Given the description of an element on the screen output the (x, y) to click on. 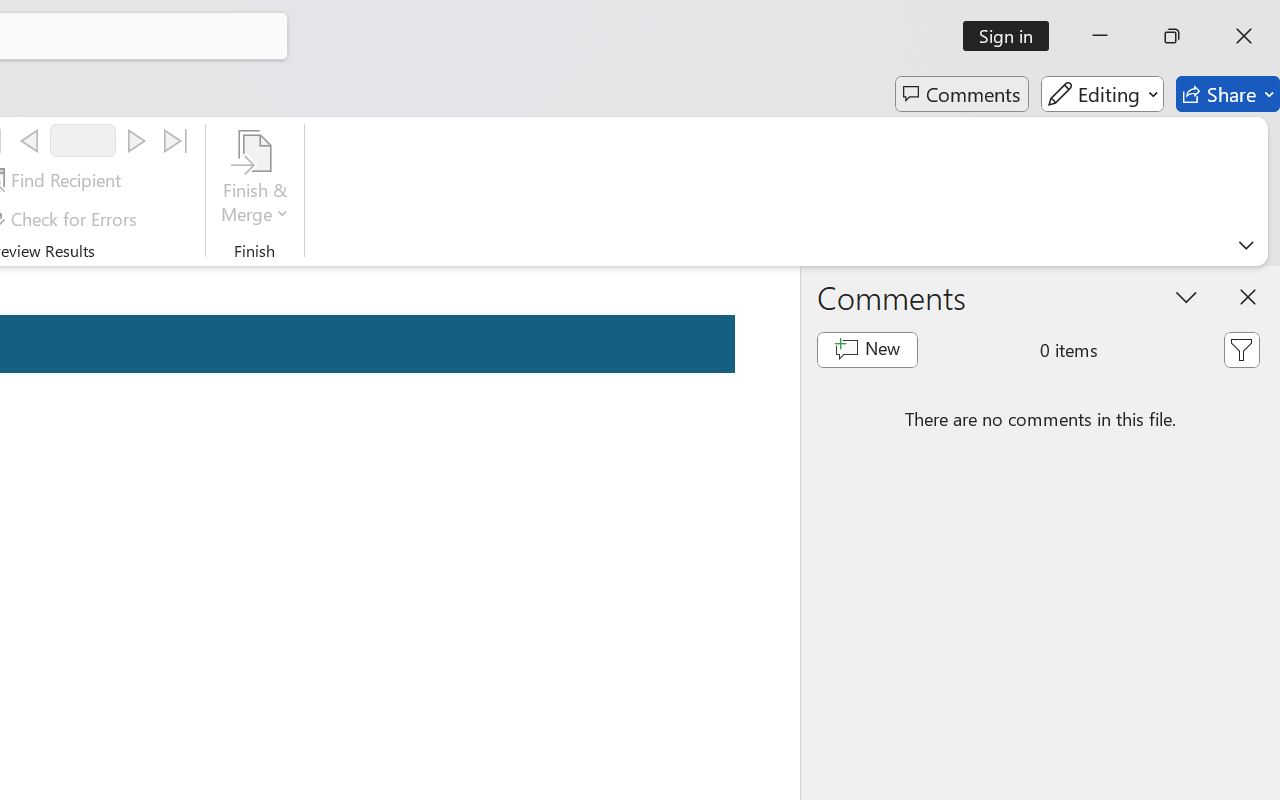
Previous (29, 141)
Last (175, 141)
Record (83, 140)
Sign in (1012, 35)
Filter (1241, 350)
Editing (1101, 94)
Next (136, 141)
New comment (866, 350)
